Given the description of an element on the screen output the (x, y) to click on. 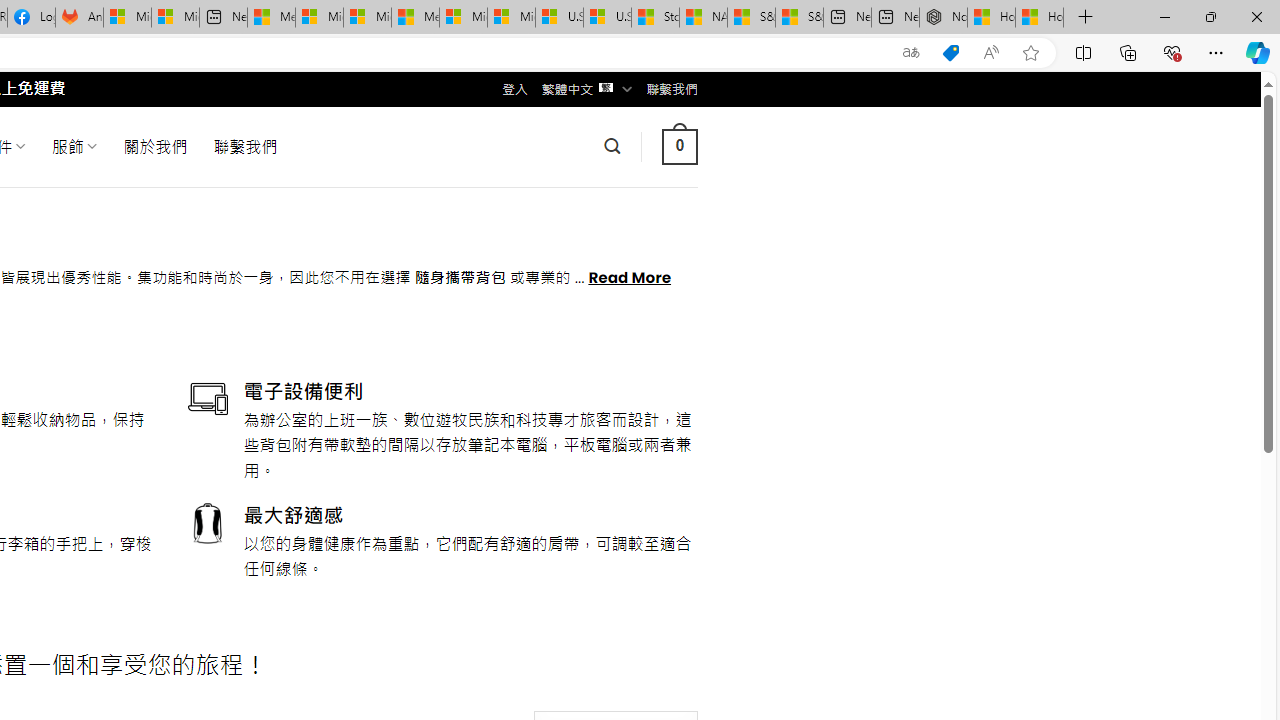
  0   (679, 146)
How to Use a Monitor With Your Closed Laptop (1039, 17)
S&P 500, Nasdaq end lower, weighed by Nvidia dip | Watch (799, 17)
Microsoft account | Privacy (319, 17)
